Given the description of an element on the screen output the (x, y) to click on. 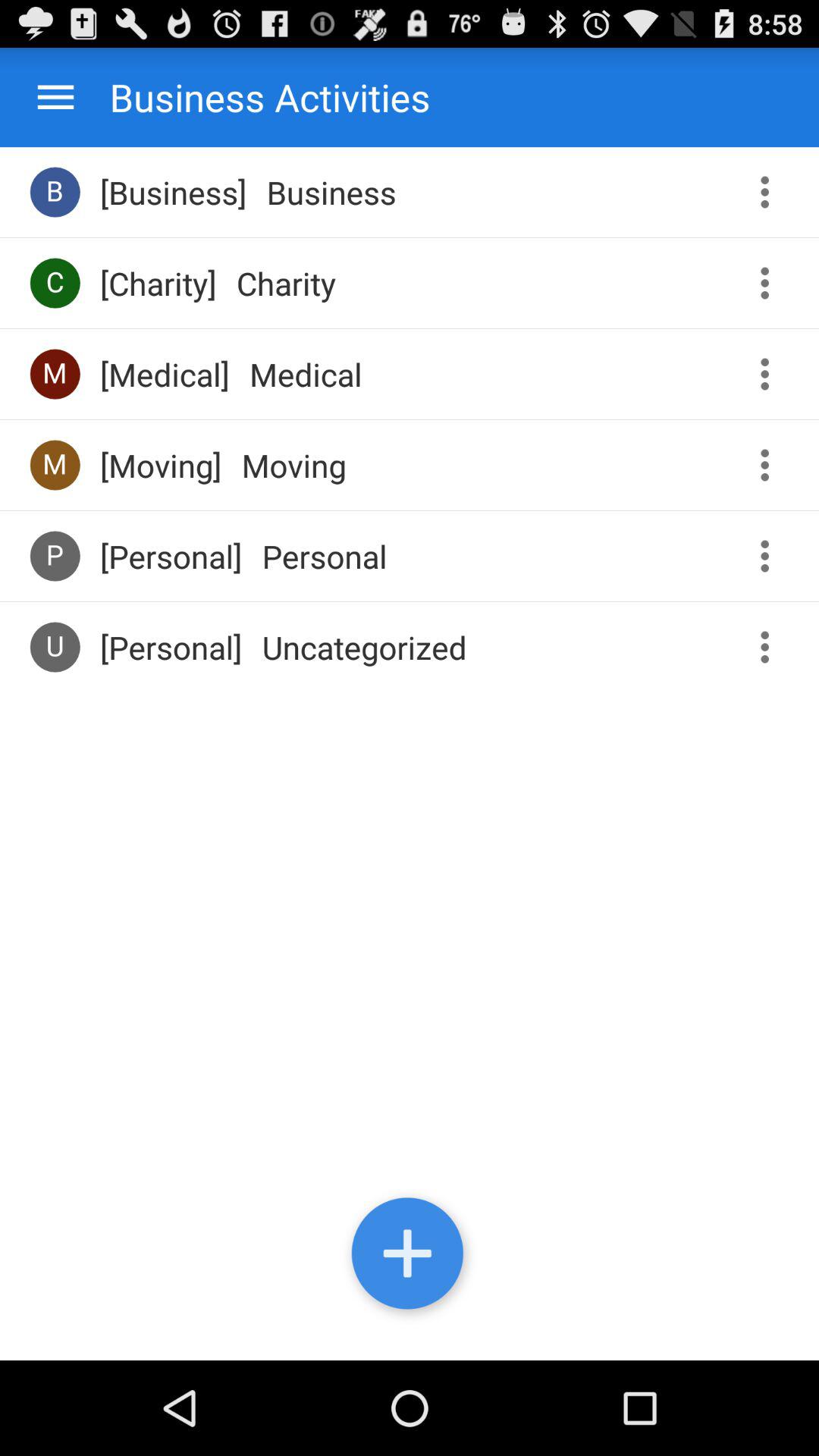
turn off p app (54, 555)
